Given the description of an element on the screen output the (x, y) to click on. 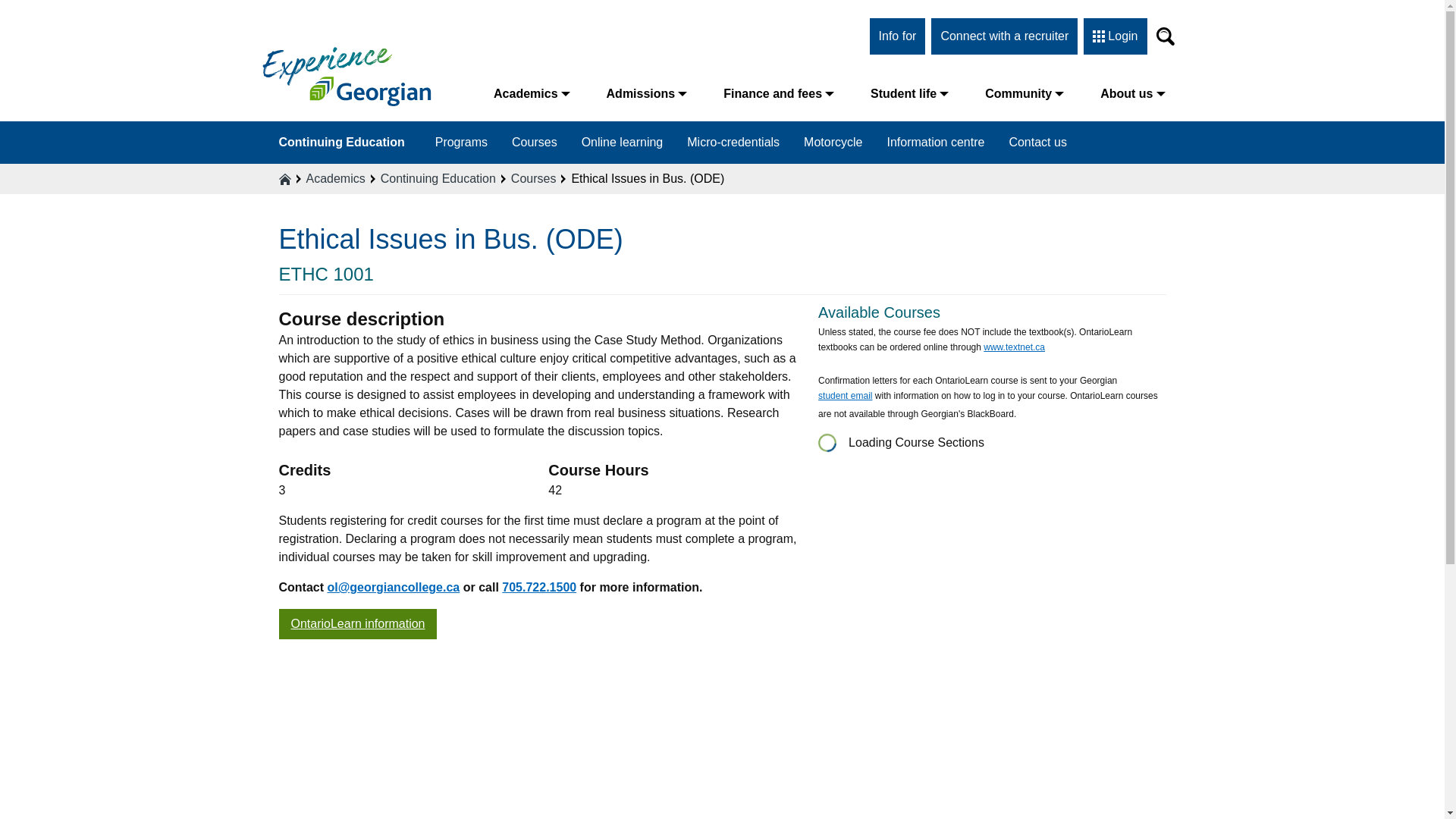
Community (1023, 93)
Student life (908, 93)
Academics (532, 93)
Skip to content (11, 11)
Admissions (647, 93)
Login (1115, 36)
Georgian College (345, 75)
OntarioLearn (358, 624)
Georgian College (345, 75)
Finance and fees (777, 93)
